Given the description of an element on the screen output the (x, y) to click on. 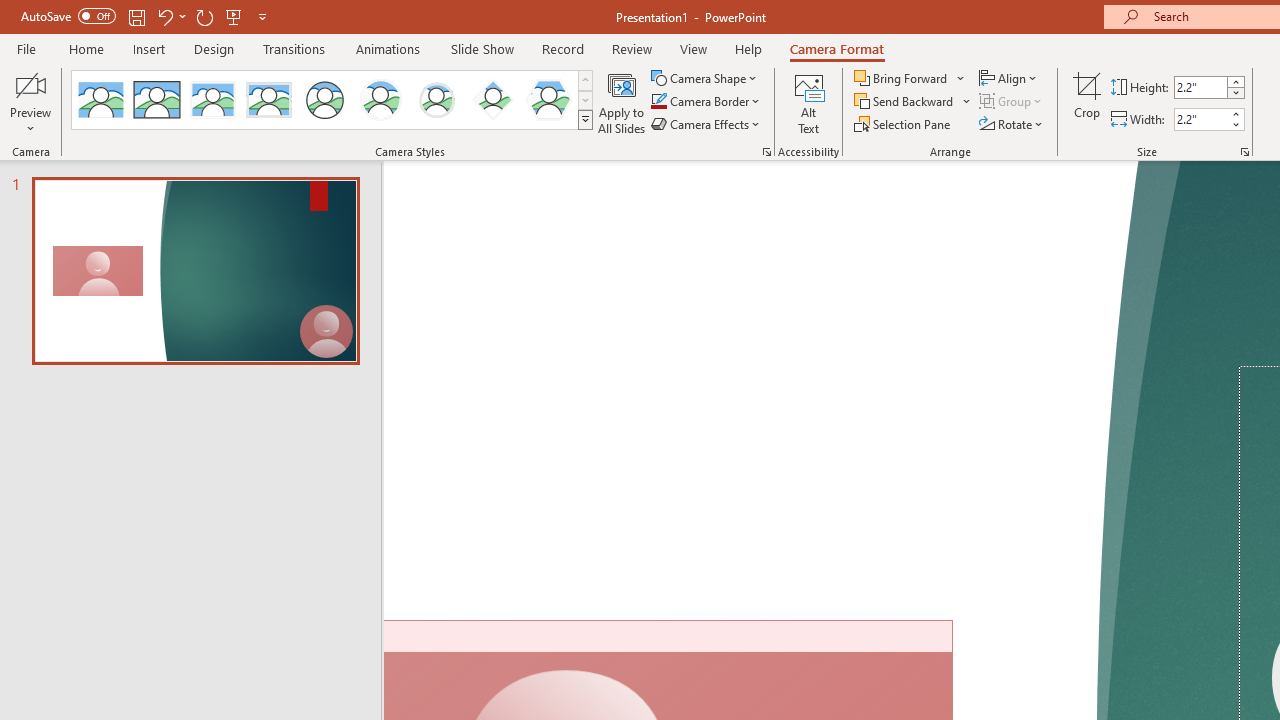
Camera Shape (705, 78)
AutomationID: CameoStylesGallery (333, 99)
Rotate (1012, 124)
Soft Edge Circle (436, 100)
Center Shadow Rectangle (212, 100)
Center Shadow Diamond (492, 100)
